Given the description of an element on the screen output the (x, y) to click on. 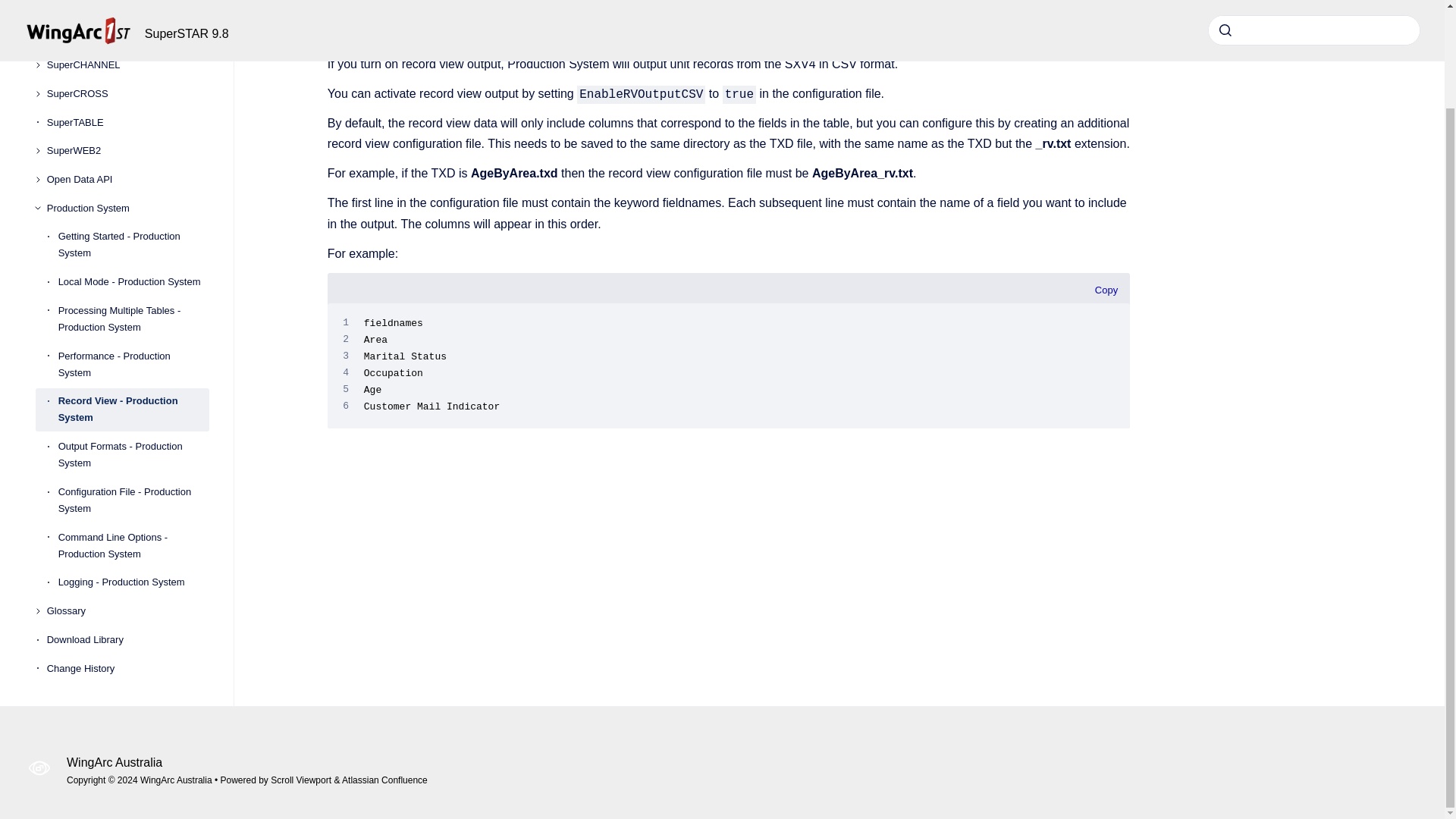
Copy (1106, 290)
Configuration File - Production System (133, 477)
Output Formats - Production System (133, 432)
SuperWEB2 (127, 127)
Open Data API (127, 156)
SuperCHANNEL (127, 42)
Download Library (127, 616)
Change History (127, 646)
SuperCROSS (127, 71)
Processing Multiple Tables - Production System (133, 296)
Record View - Production System (133, 387)
SuperSERVER (127, 13)
Logging - Production System (133, 560)
Performance - Production System (133, 341)
Local Mode - Production System (133, 258)
